Given the description of an element on the screen output the (x, y) to click on. 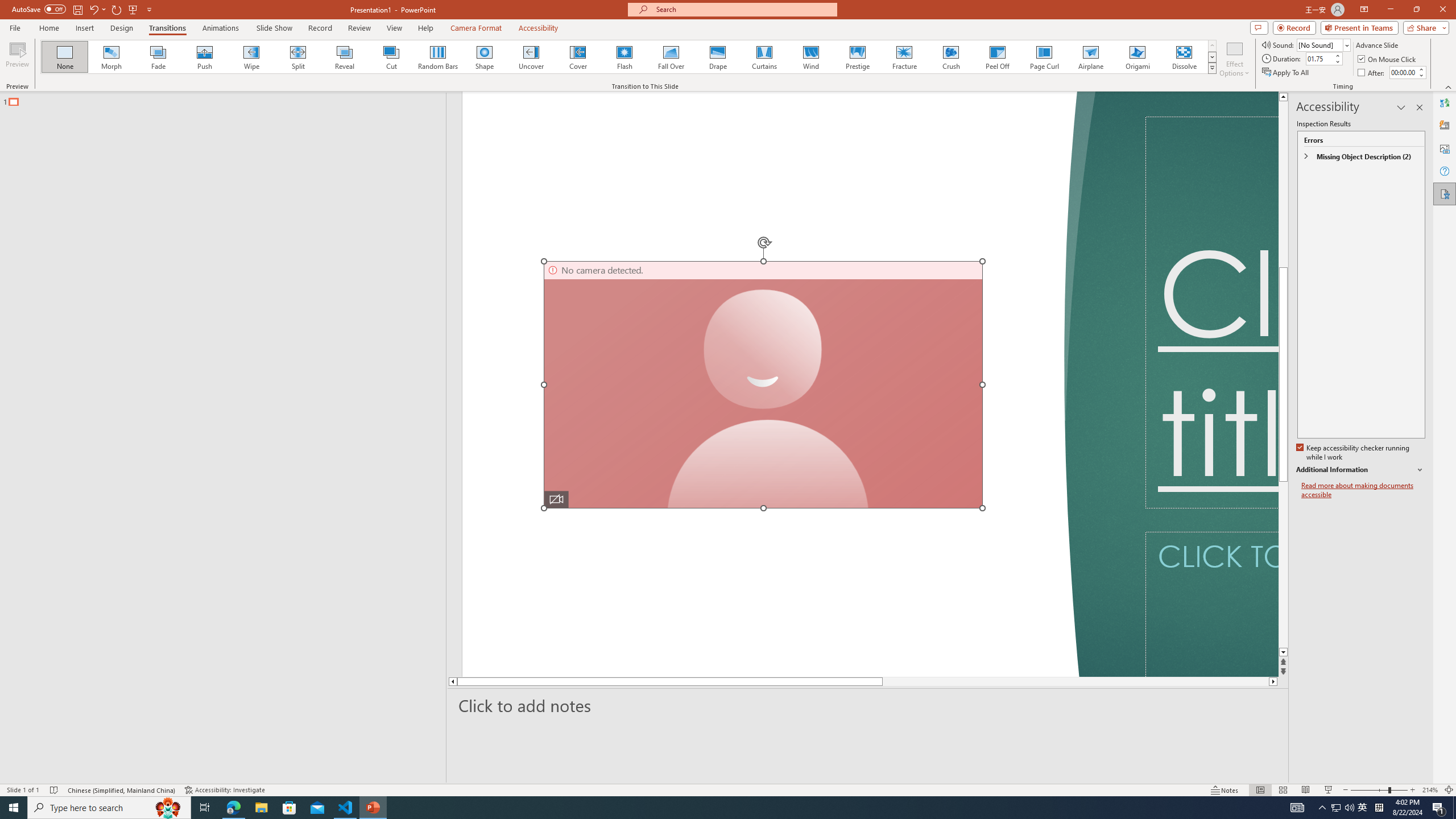
Curtains (764, 56)
Page up (1283, 266)
